Given the description of an element on the screen output the (x, y) to click on. 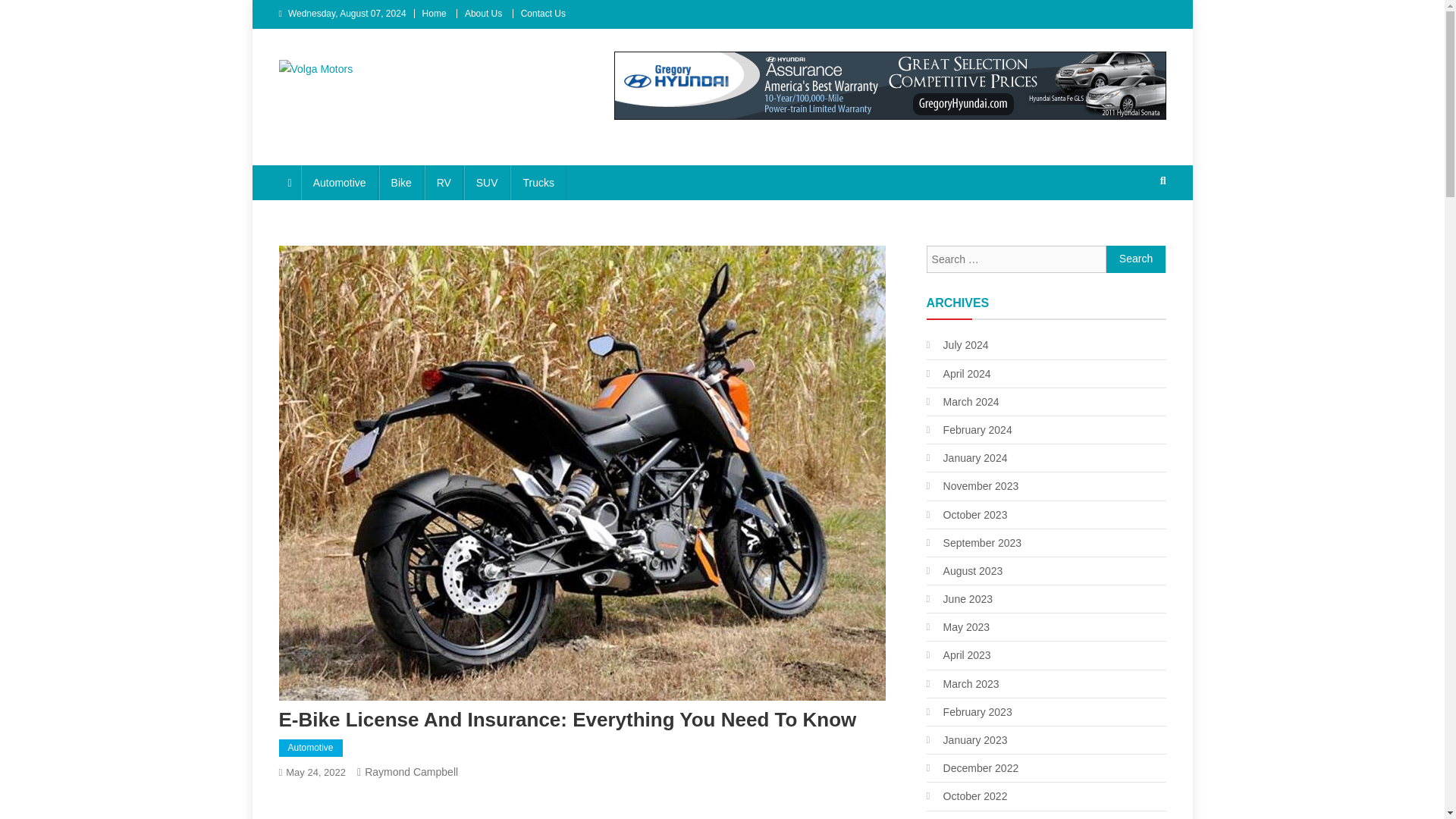
SUV (487, 182)
Automotive (310, 748)
February 2024 (968, 429)
May 24, 2022 (315, 772)
April 2024 (958, 373)
Search (1136, 258)
Search (1136, 258)
March 2024 (962, 401)
July 2024 (957, 344)
RV (444, 182)
